Given the description of an element on the screen output the (x, y) to click on. 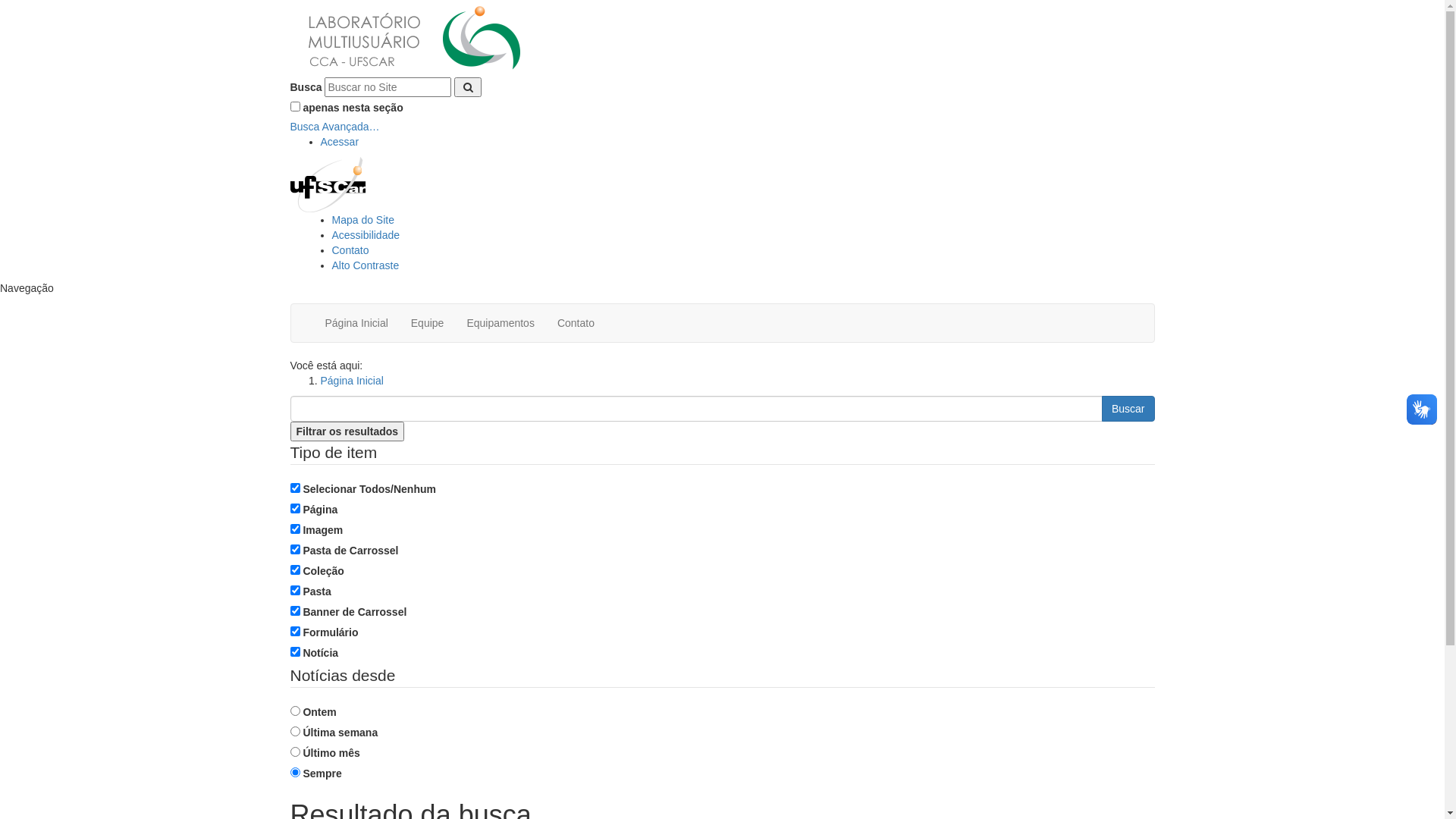
Buscar no Site Element type: hover (387, 87)
Contato Element type: text (575, 323)
Alto Contraste Element type: text (365, 265)
Multi Equipamentos Element type: hover (411, 37)
Filtrar os resultados Element type: text (346, 431)
Mapa do Site Element type: text (363, 219)
Multi Equipamentos CCA Element type: hover (411, 38)
Busca no Site Element type: hover (695, 408)
Equipe Element type: text (427, 323)
Acessar Element type: text (339, 141)
Buscar Element type: text (1127, 408)
Equipamentos Element type: text (500, 323)
Acessibilidade Element type: text (366, 235)
Portal UFSCar Element type: hover (327, 183)
Contato Element type: text (350, 250)
